Given the description of an element on the screen output the (x, y) to click on. 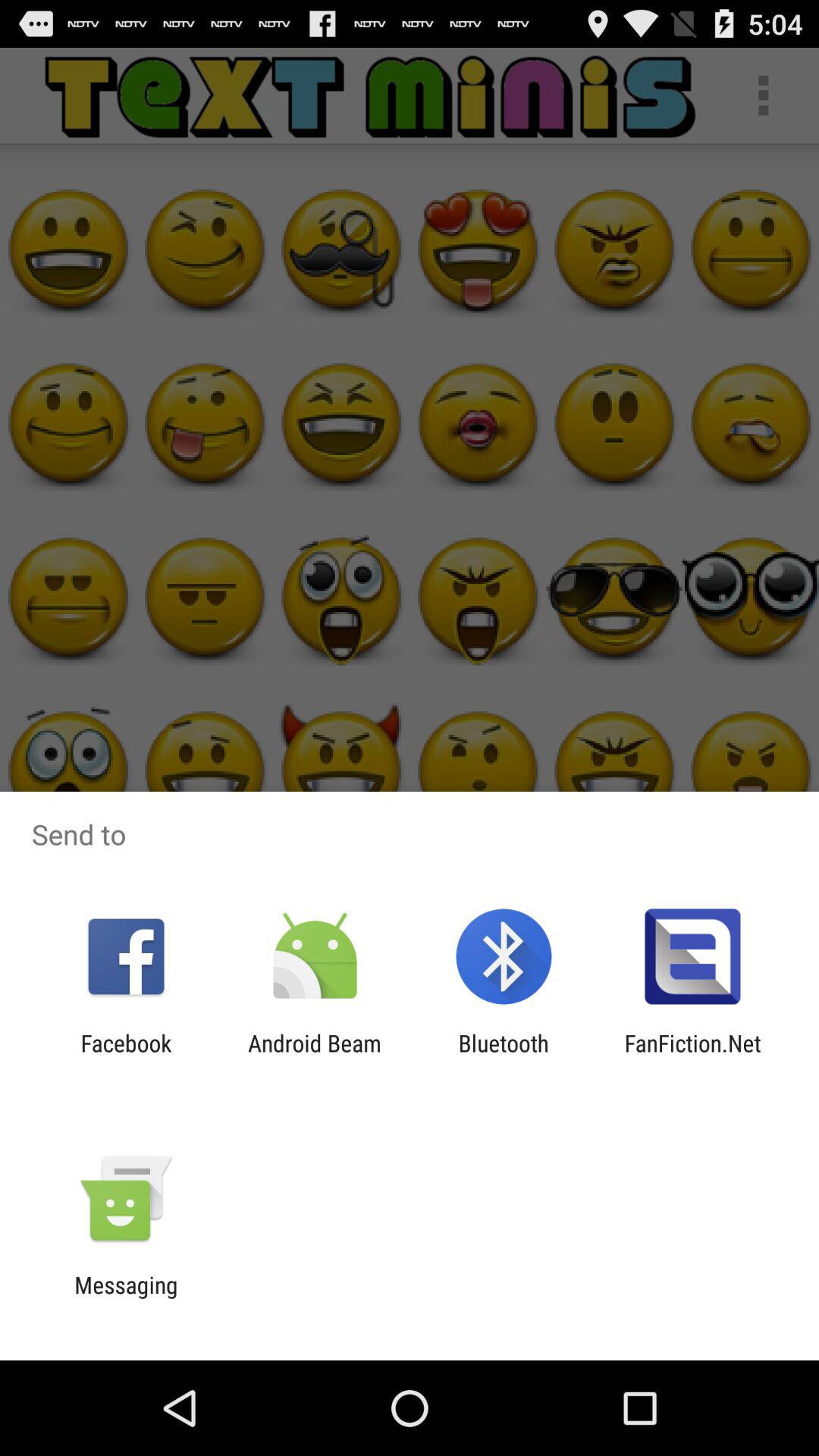
launch messaging item (126, 1298)
